Given the description of an element on the screen output the (x, y) to click on. 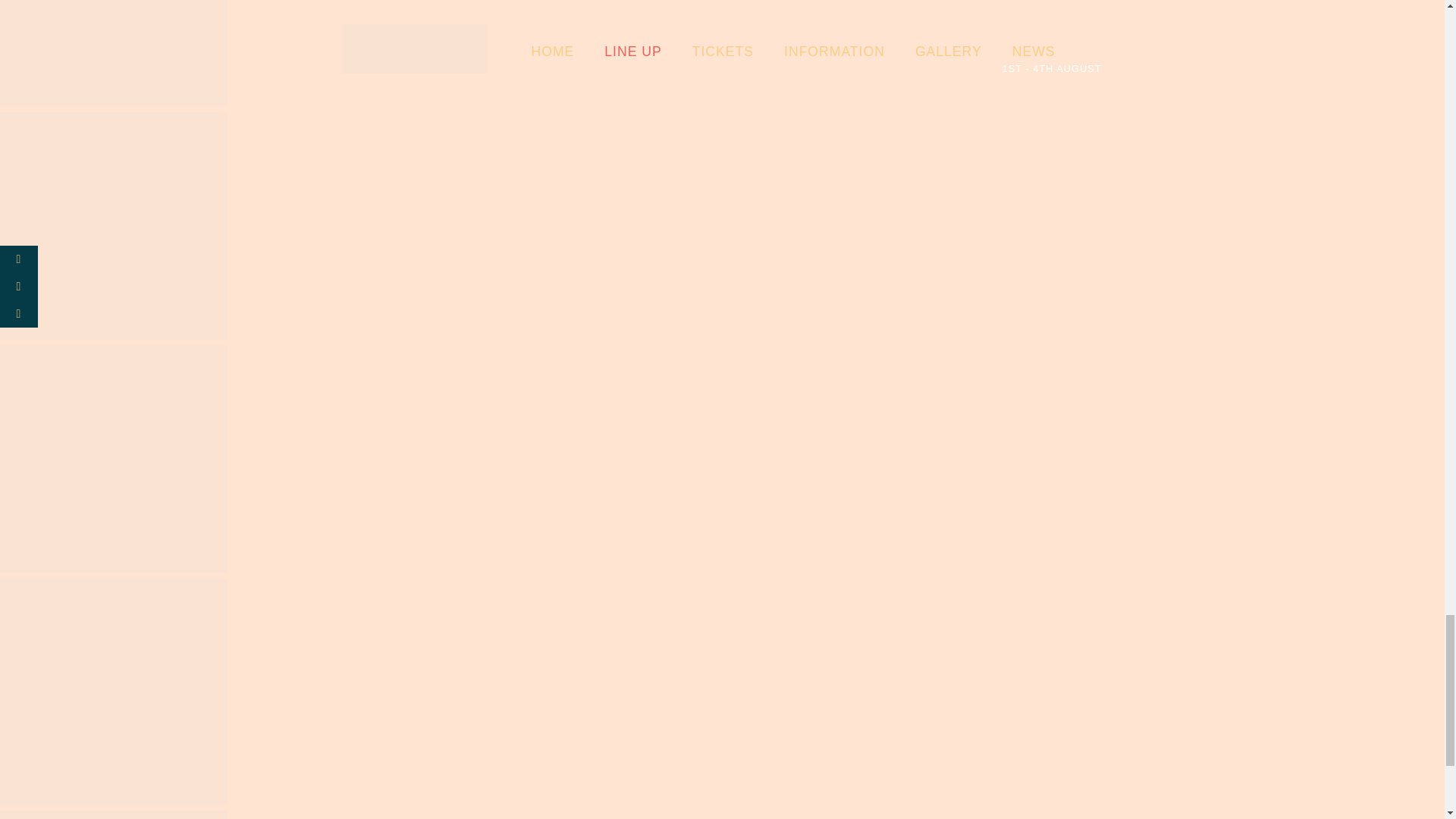
Sound Level Events (113, 694)
Bowan Ales (113, 461)
